Given the description of an element on the screen output the (x, y) to click on. 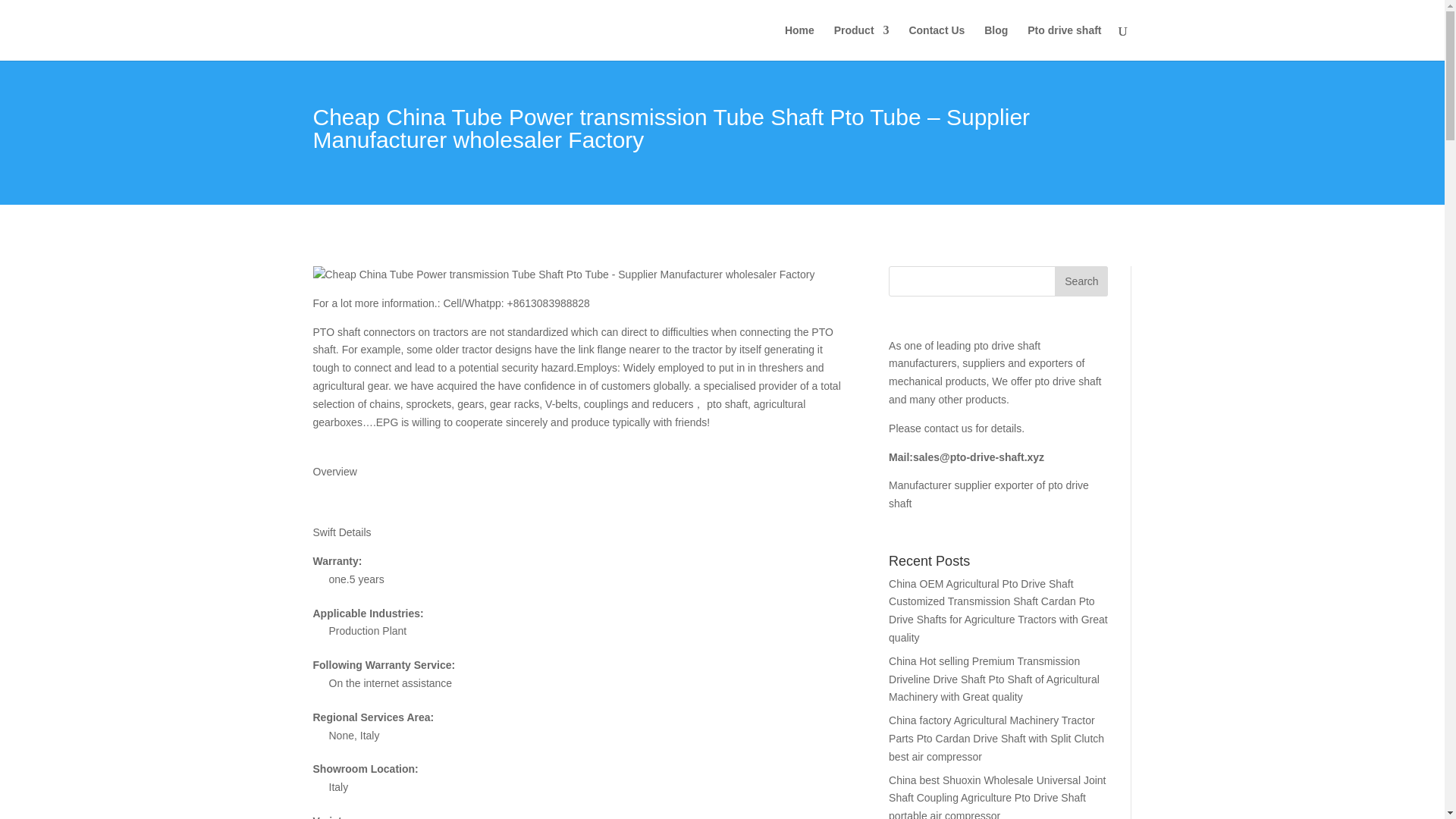
Product (861, 42)
Search (1081, 281)
Contact Us (935, 42)
Search (1081, 281)
Pto drive shaft (1063, 42)
